Given the description of an element on the screen output the (x, y) to click on. 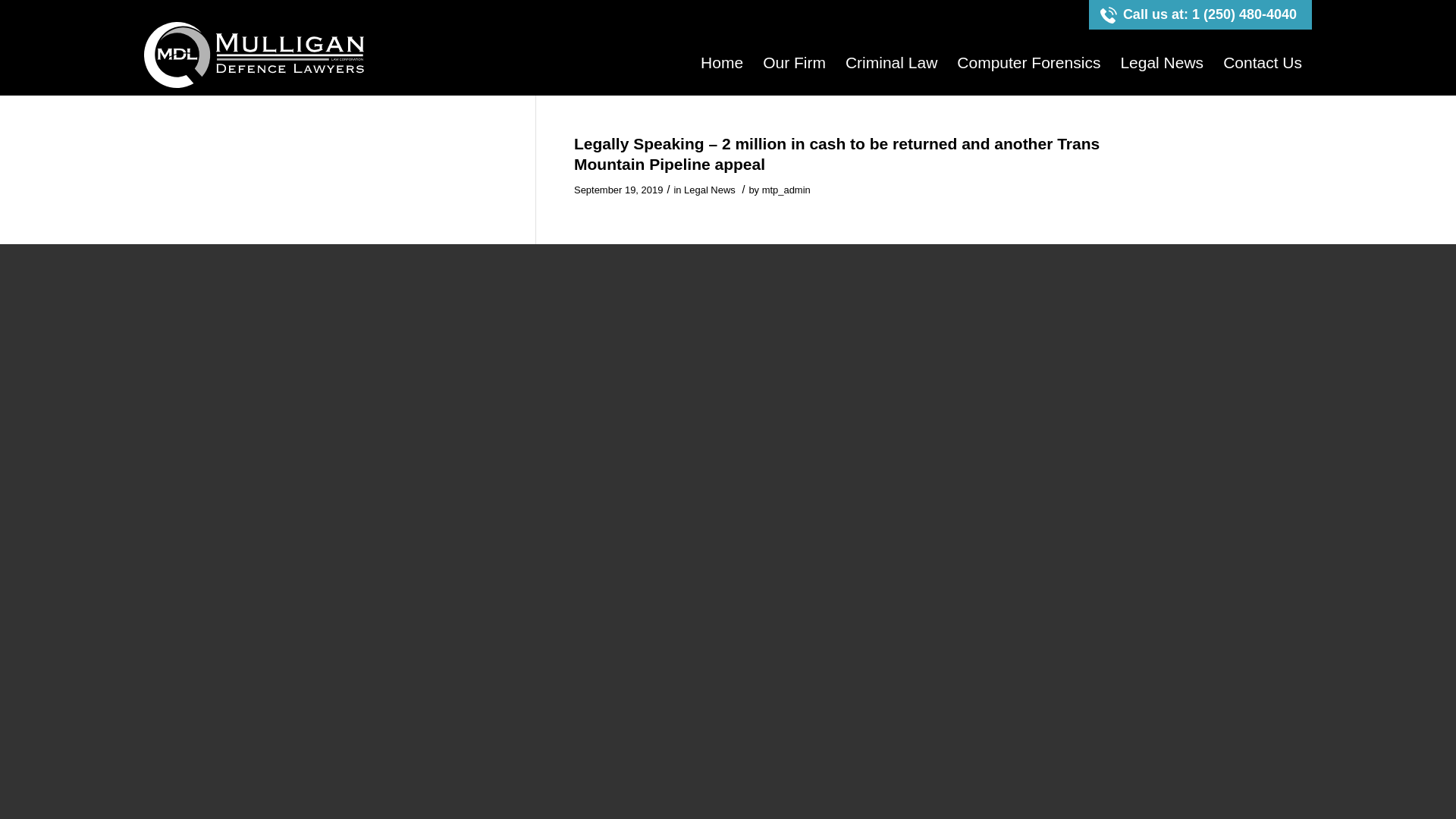
Computer Forensics (1028, 62)
Criminal Law (891, 62)
Contact Us (1261, 62)
Home (721, 62)
Legal News (1160, 62)
Our Firm (793, 62)
Legal News (709, 189)
